Given the description of an element on the screen output the (x, y) to click on. 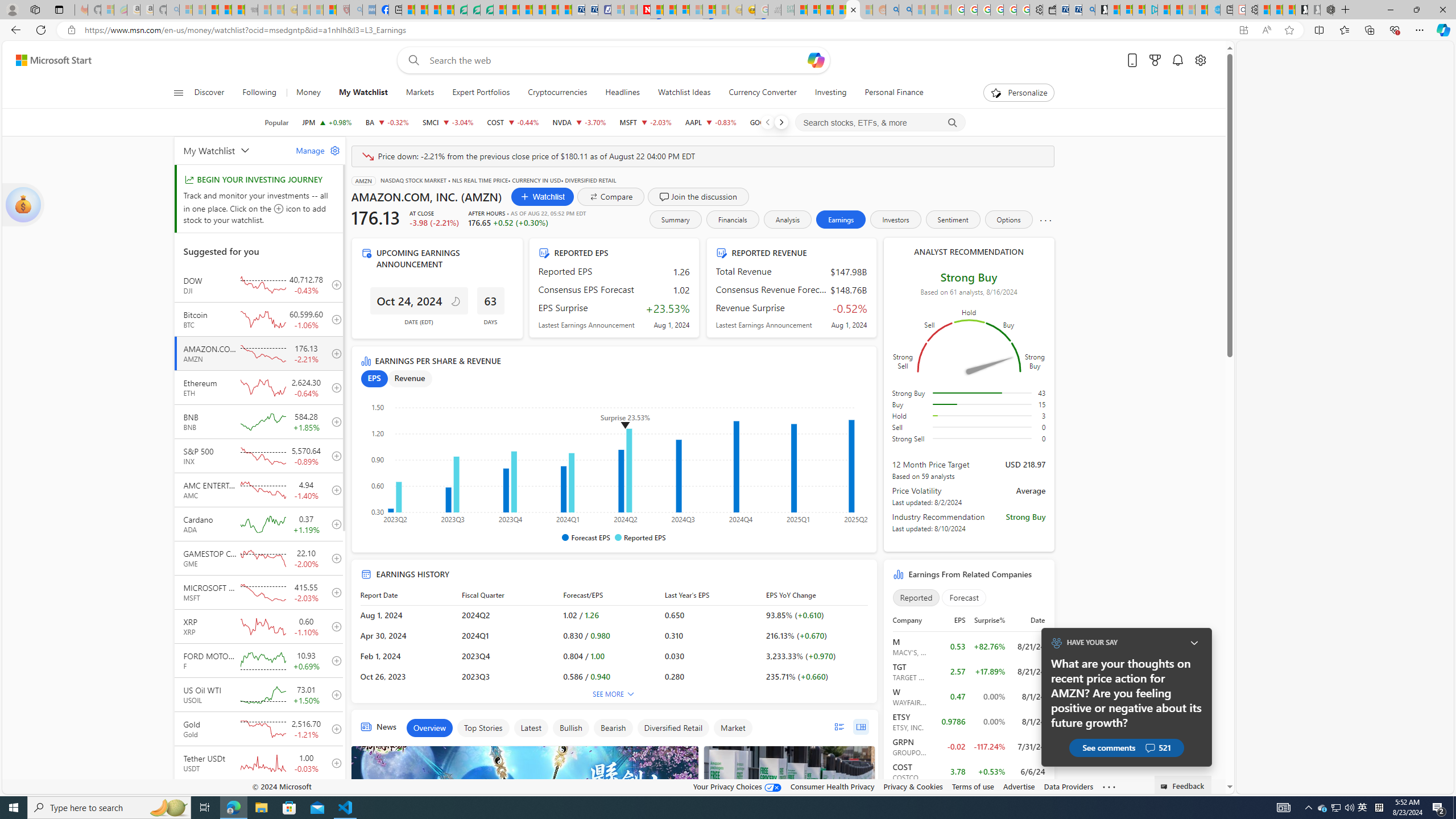
Market (732, 728)
Headlines (622, 92)
MSFT MICROSOFT CORPORATION decrease 415.55 -8.59 -2.03% (645, 122)
Cryptocurrencies (557, 92)
Investors (895, 219)
